Given the description of an element on the screen output the (x, y) to click on. 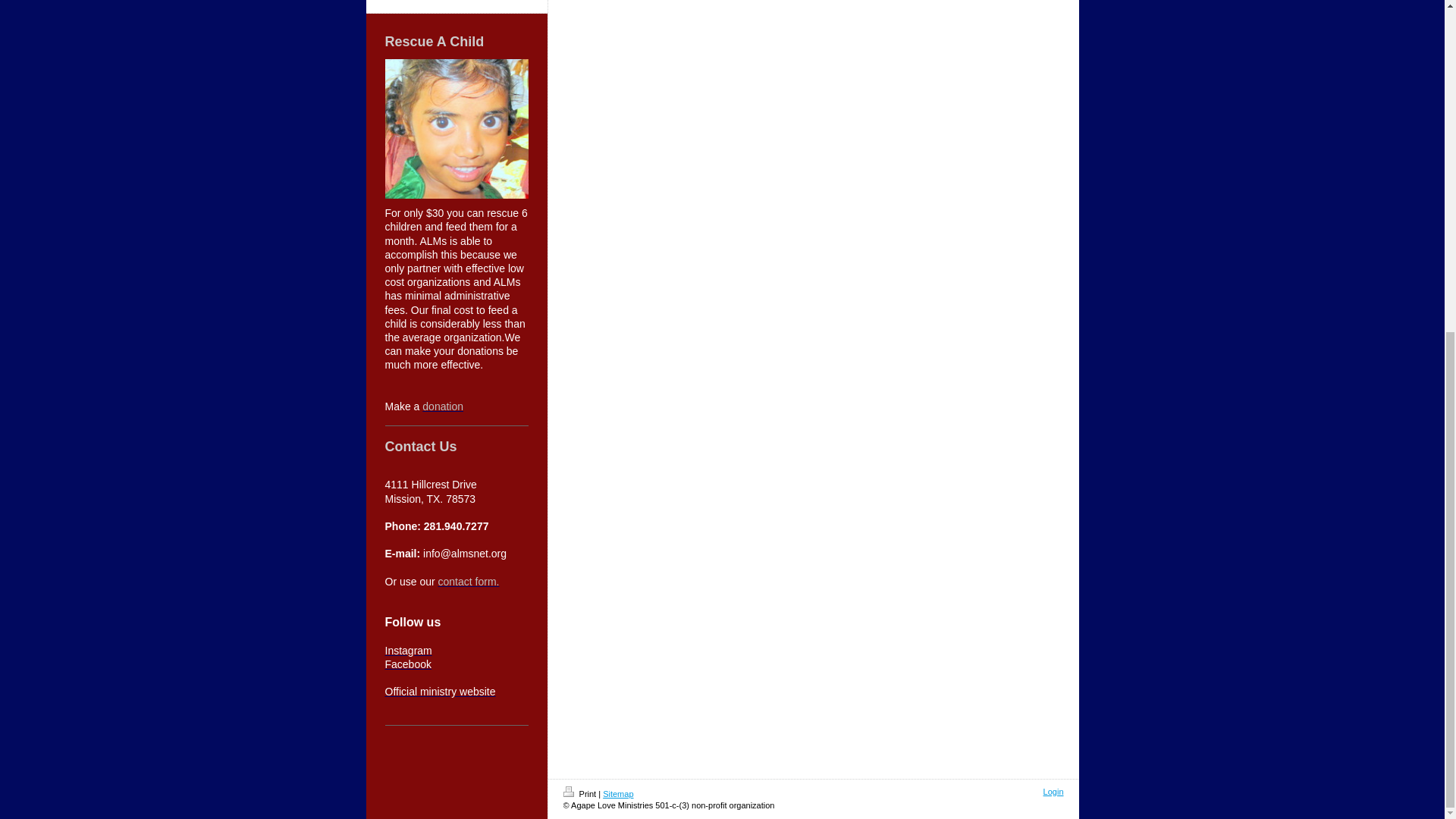
contact form. (468, 581)
Print (580, 793)
Sitemap (617, 793)
Instagram (408, 650)
Login (1053, 791)
Facebook (407, 664)
donation (442, 406)
Official ministry website (440, 691)
